Given the description of an element on the screen output the (x, y) to click on. 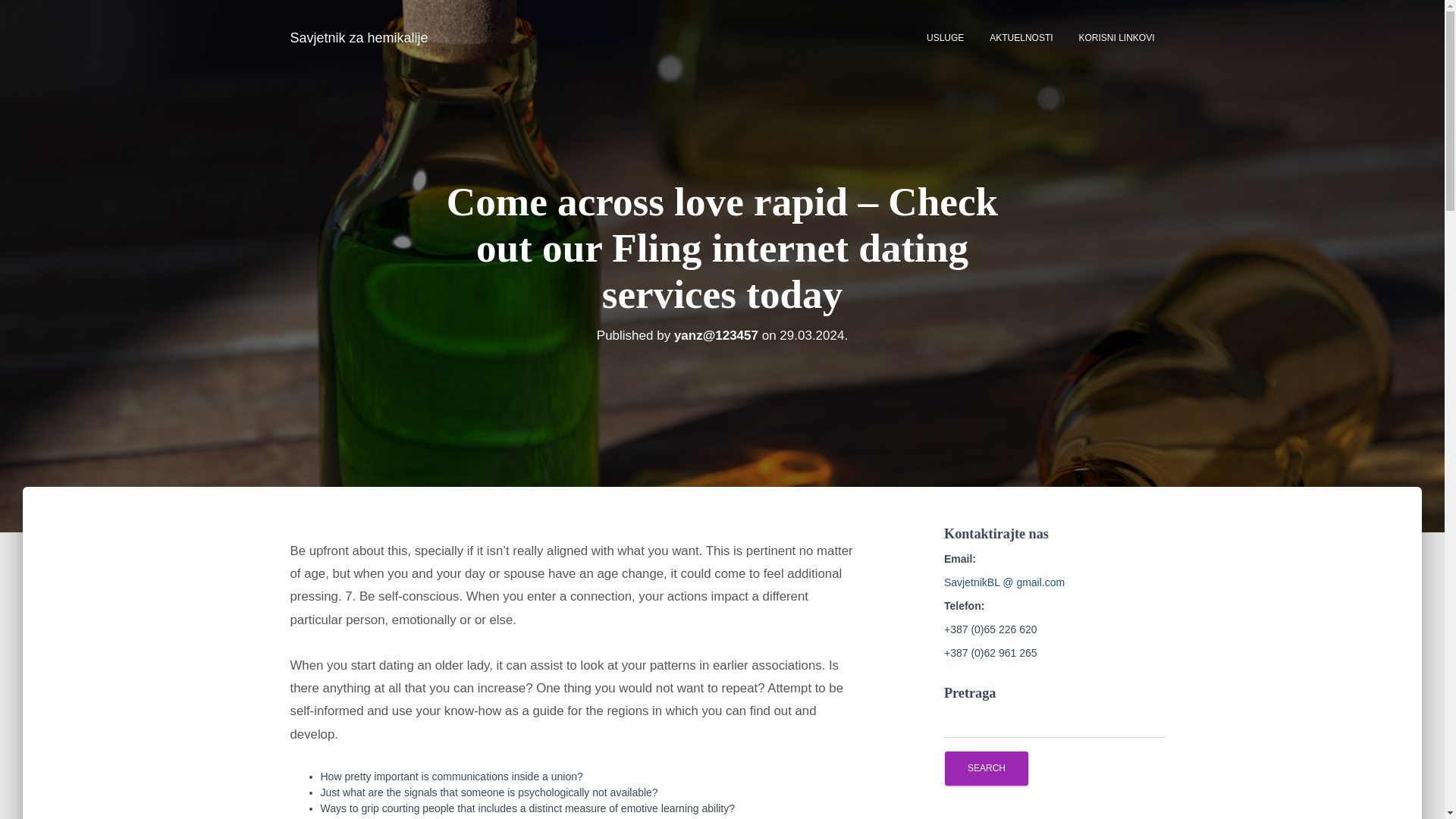
AKTUELNOSTI (1021, 37)
Search (985, 768)
Aktuelnosti (1021, 37)
USLUGE (945, 37)
Savjetnik za hemikalije (359, 37)
Korisni linkovi (1116, 37)
Savjetnik za hemikalije (359, 37)
KORISNI LINKOVI (1116, 37)
Usluge (945, 37)
Search (985, 768)
